Given the description of an element on the screen output the (x, y) to click on. 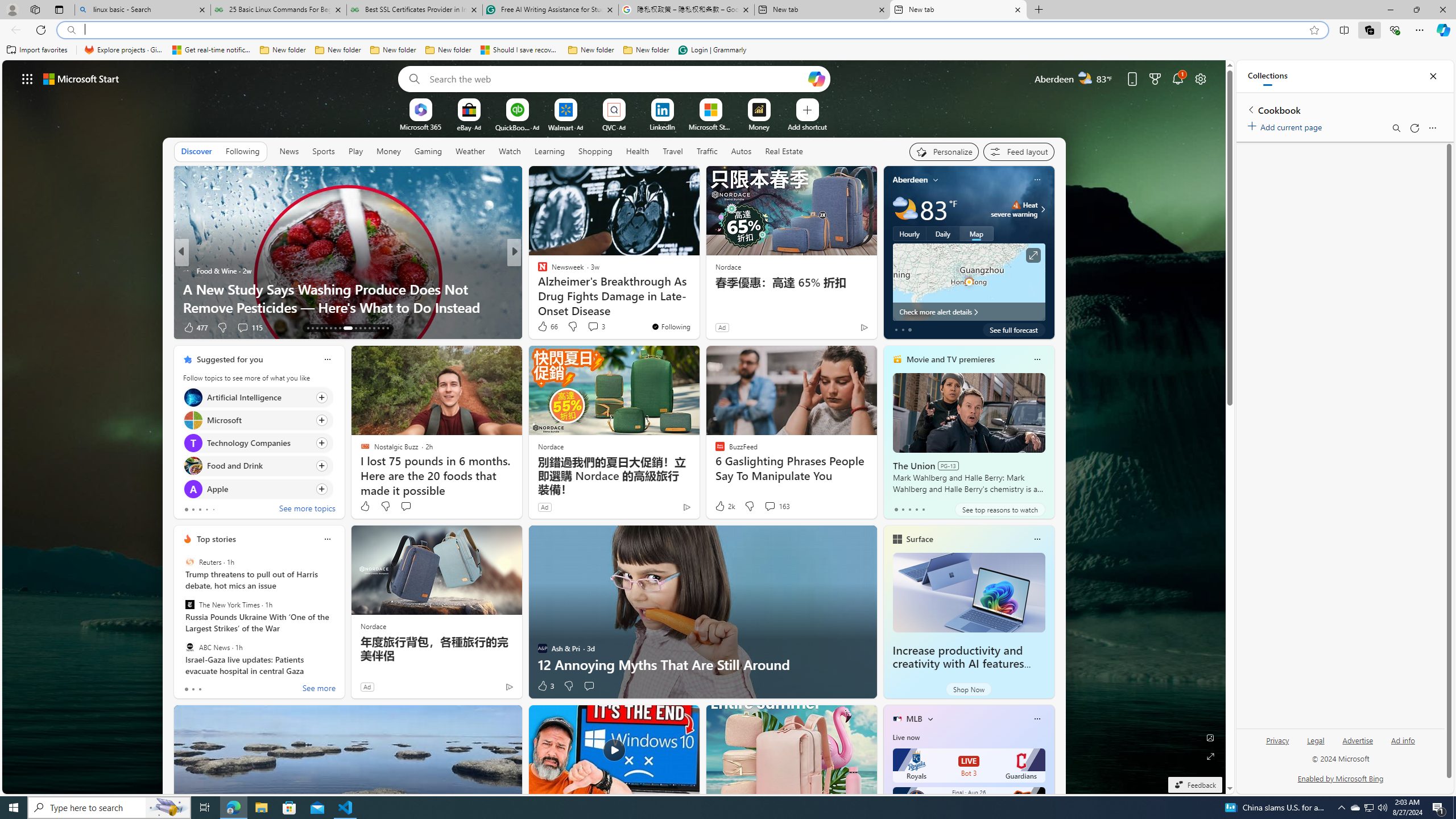
Real Estate (783, 151)
Start the conversation (588, 685)
Back to list of collections (1250, 109)
Daily (942, 233)
Partly cloudy (904, 208)
tab-3 (916, 509)
Traffic (706, 151)
Class: weather-arrow-glyph (1043, 208)
Larger map  (968, 282)
Login | Grammarly (712, 49)
oceanbluemarine (558, 288)
